Given the description of an element on the screen output the (x, y) to click on. 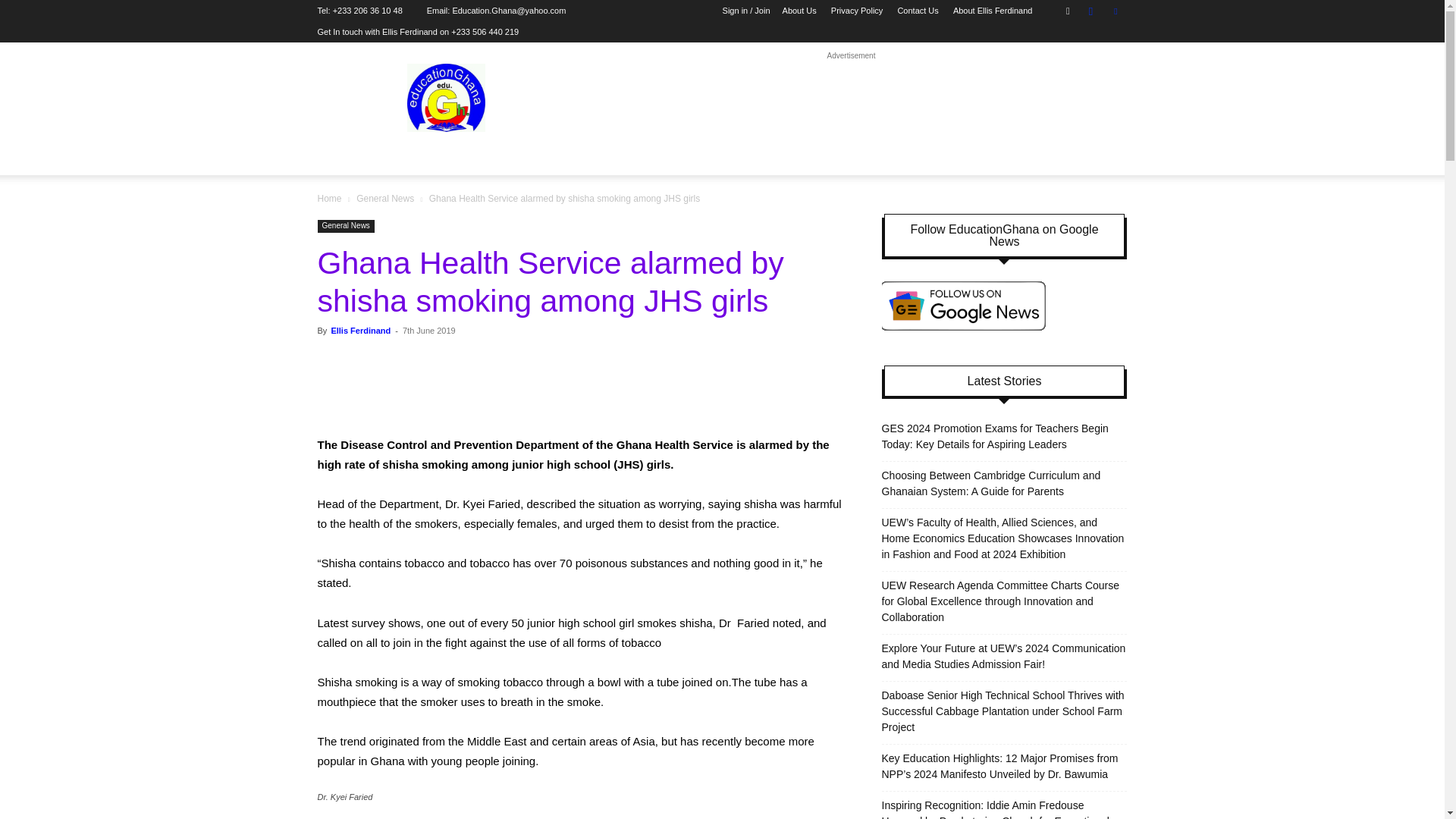
topFacebookLike (430, 358)
View all posts in General News (384, 198)
Instagram (1090, 10)
Twitter (1114, 10)
